Given the description of an element on the screen output the (x, y) to click on. 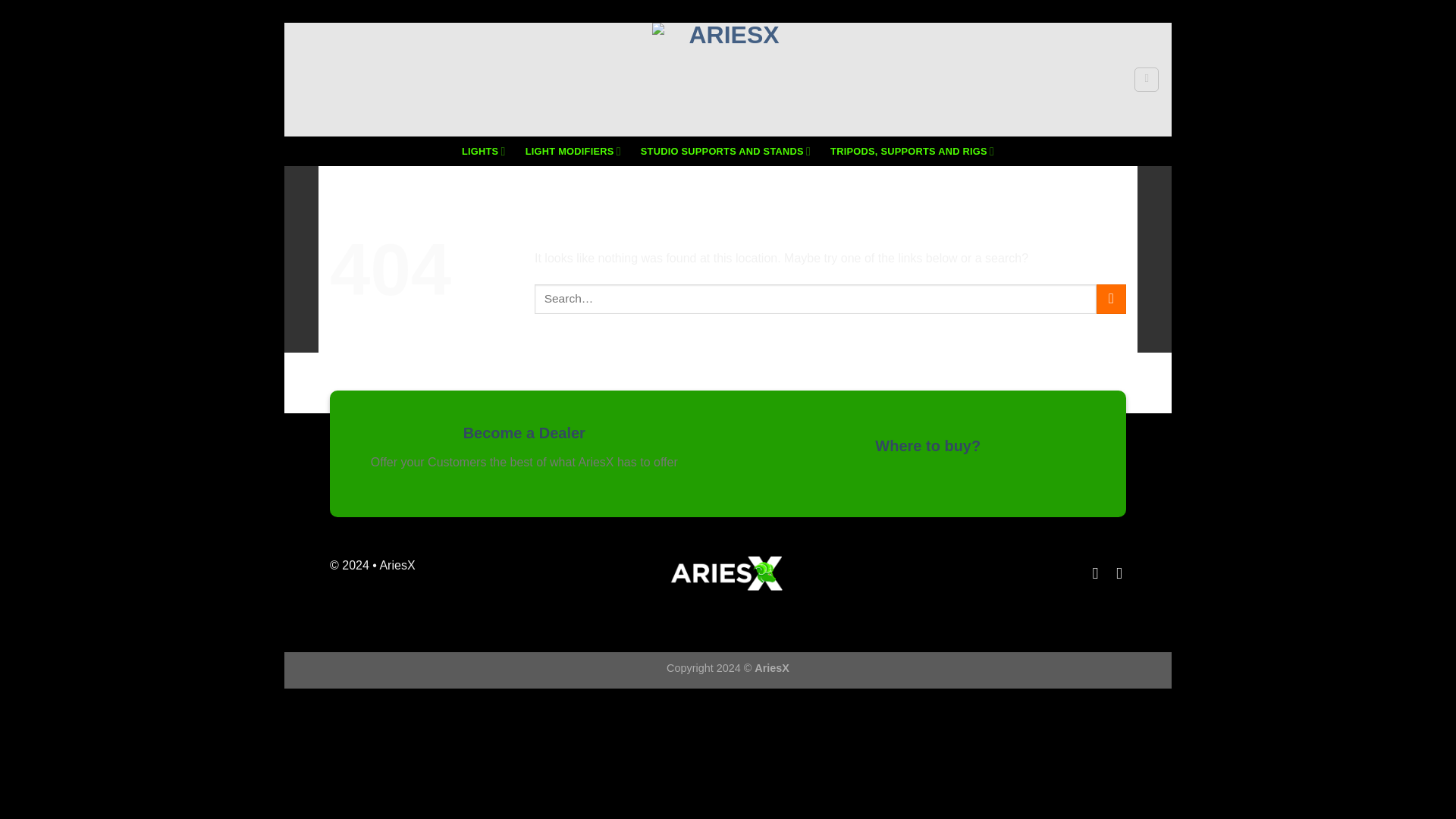
STUDIO SUPPORTS AND STANDS (725, 151)
Become a Dealer (524, 433)
LIGHTS (483, 151)
AriesX - Made to Light (727, 79)
LIGHT MODIFIERS (573, 151)
